Given the description of an element on the screen output the (x, y) to click on. 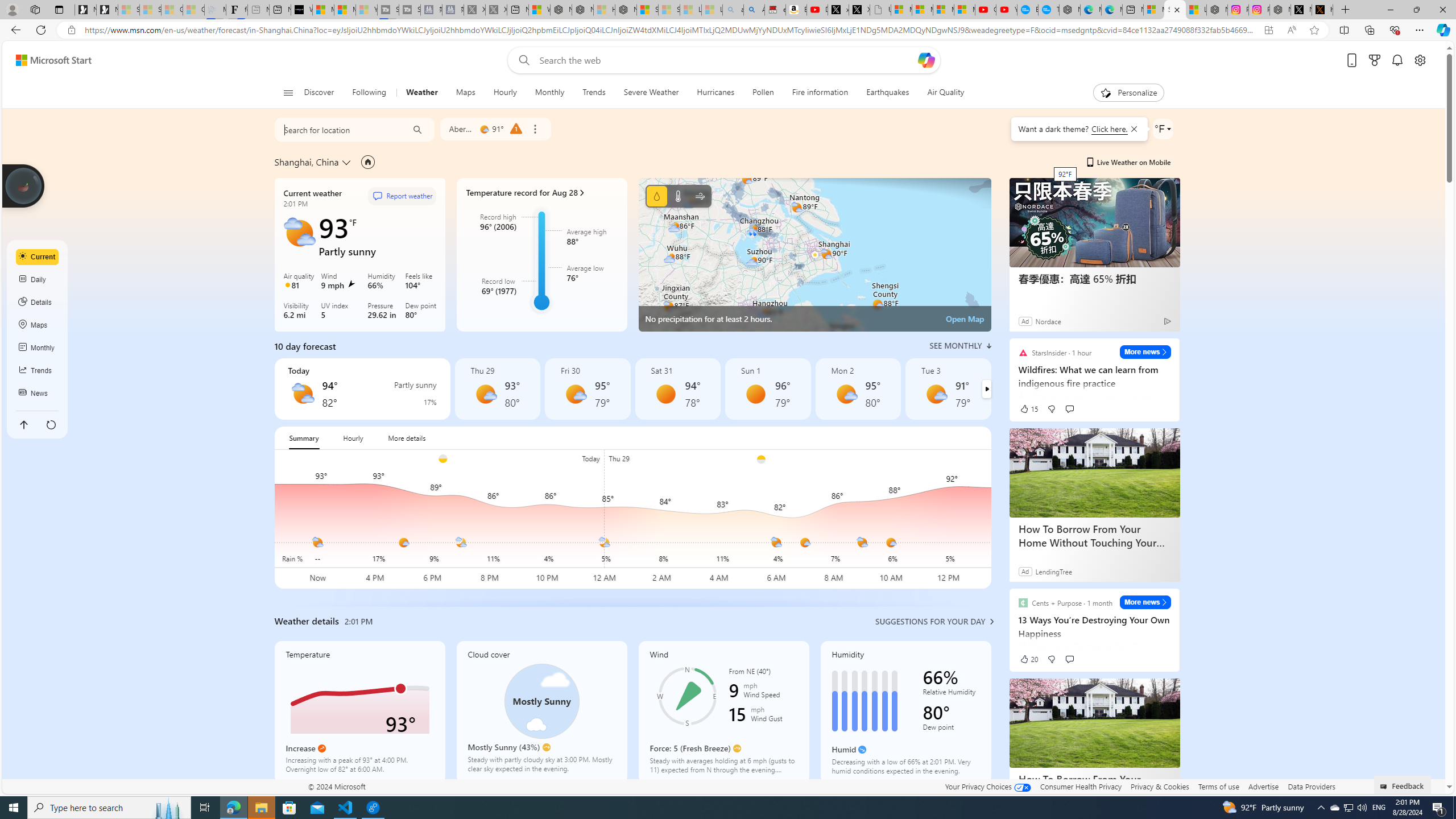
Trends (593, 92)
Trends (37, 370)
Partly sunny (302, 393)
Hourly (504, 92)
Aberdeen (461, 129)
